Given the description of an element on the screen output the (x, y) to click on. 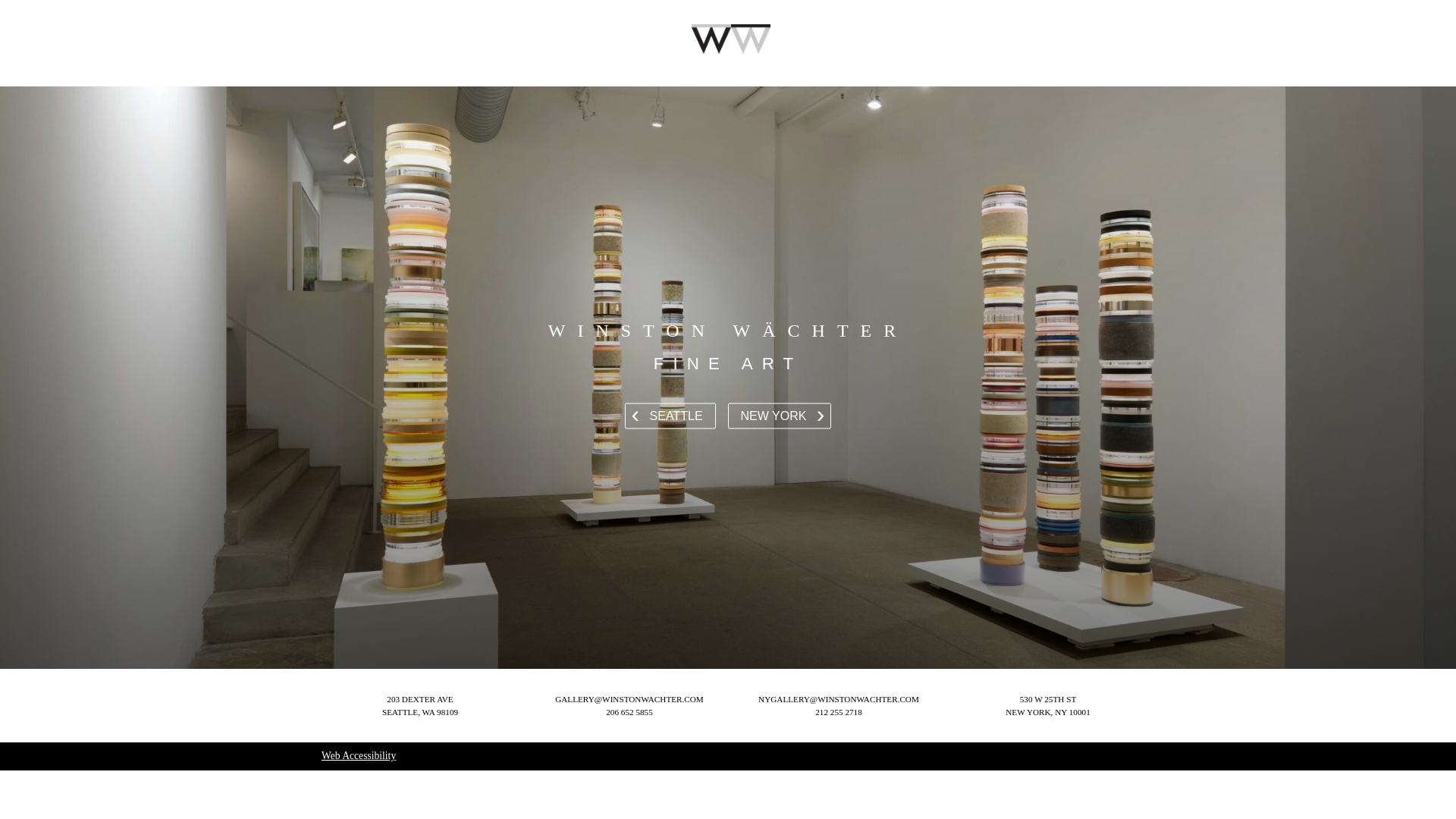
212 255 2718 (1047, 705)
NEW YORK (838, 711)
206 652 5855 (779, 415)
Web Accessibility (628, 711)
SEATTLE (358, 755)
